Given the description of an element on the screen output the (x, y) to click on. 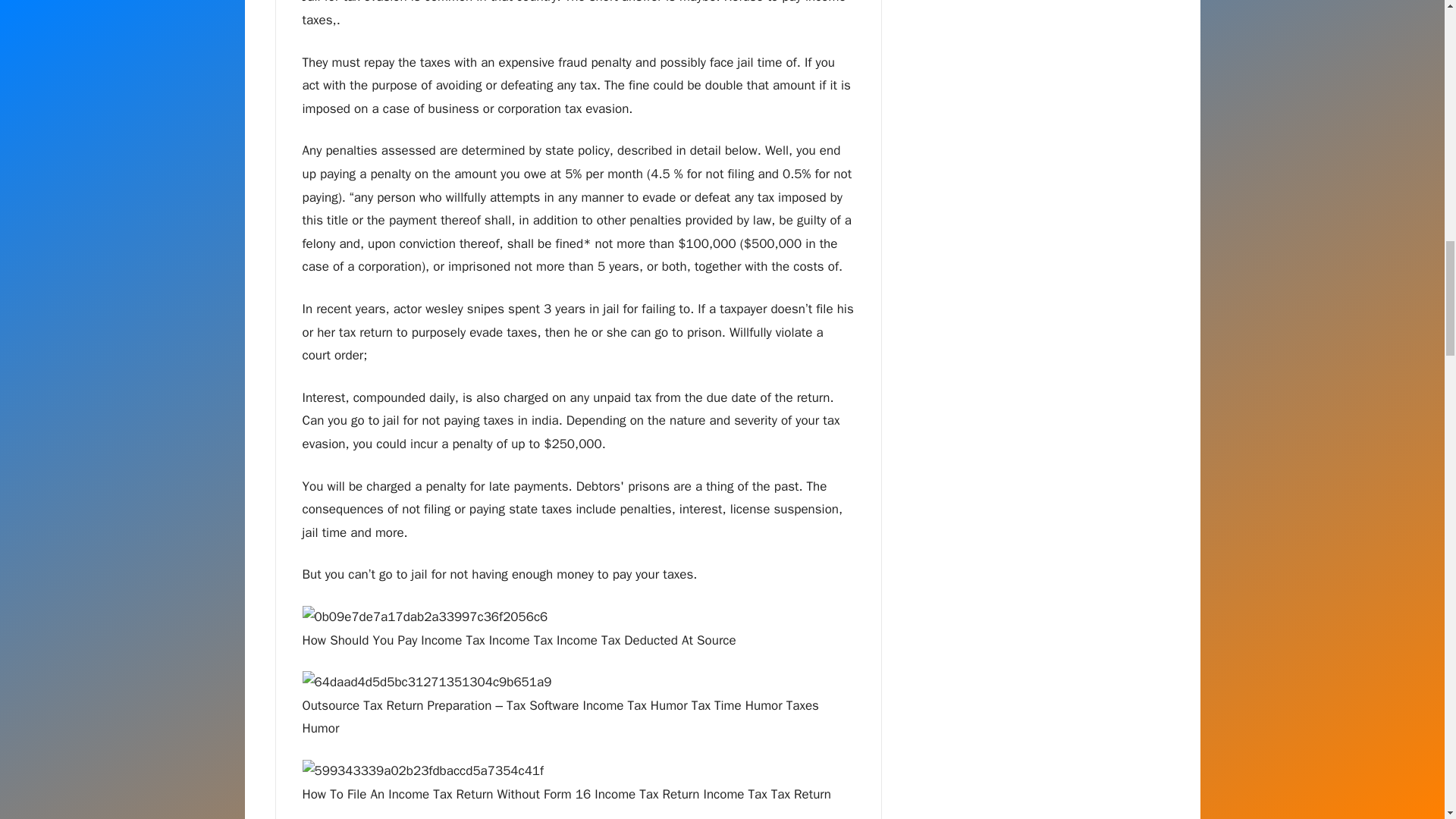
Can You Go To Jail For Not Paying Taxes In India 3 (424, 617)
Can You Go To Jail For Not Paying Taxes In India 4 (426, 682)
Can You Go To Jail For Not Paying Taxes In India 5 (422, 771)
